Given the description of an element on the screen output the (x, y) to click on. 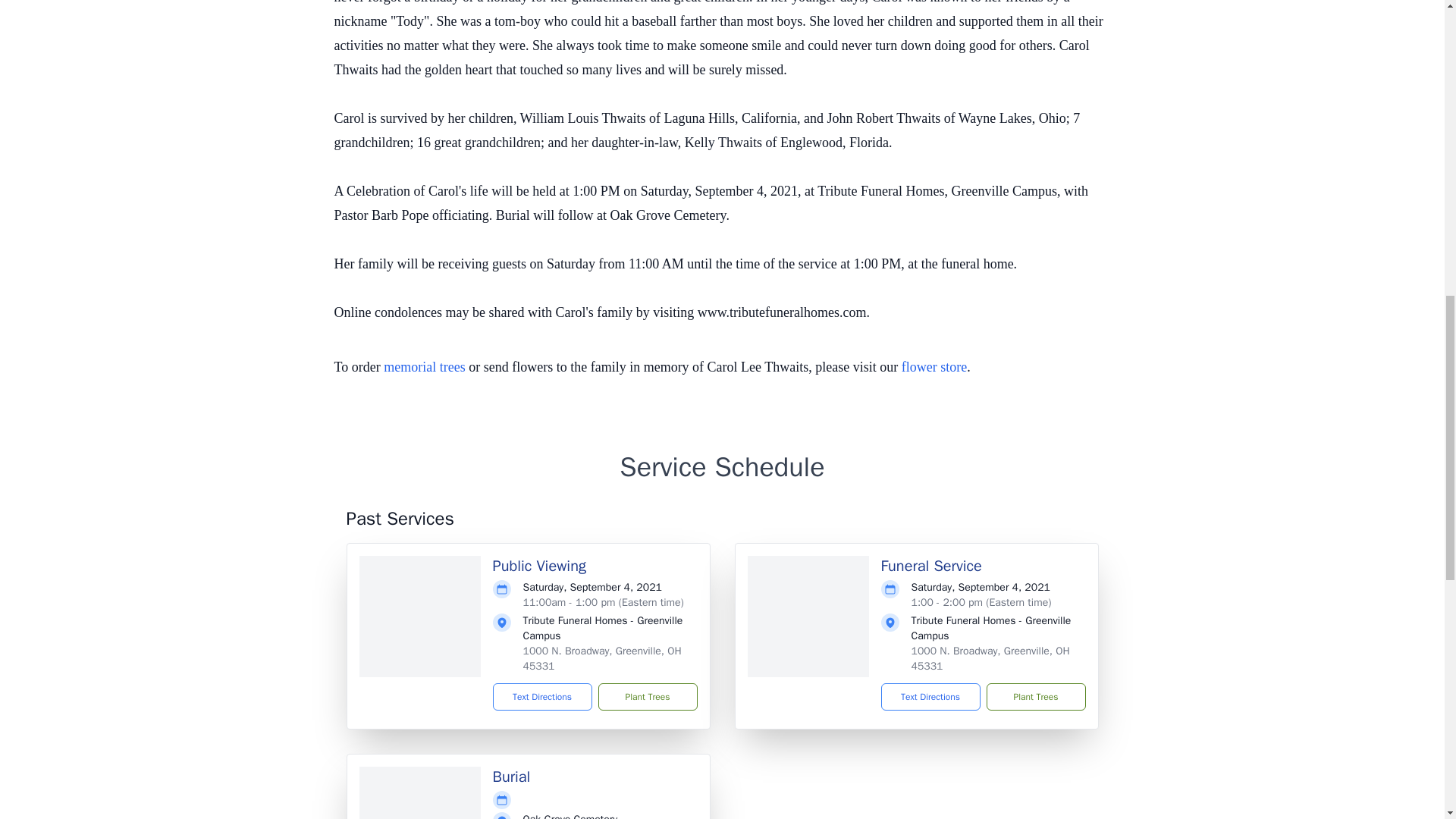
flower store (933, 366)
Plant Trees (1034, 696)
Plant Trees (646, 696)
1000 N. Broadway, Greenville, OH 45331 (990, 658)
Text Directions (929, 696)
memorial trees (424, 366)
Text Directions (542, 696)
1000 N. Broadway, Greenville, OH 45331 (601, 658)
